Given the description of an element on the screen output the (x, y) to click on. 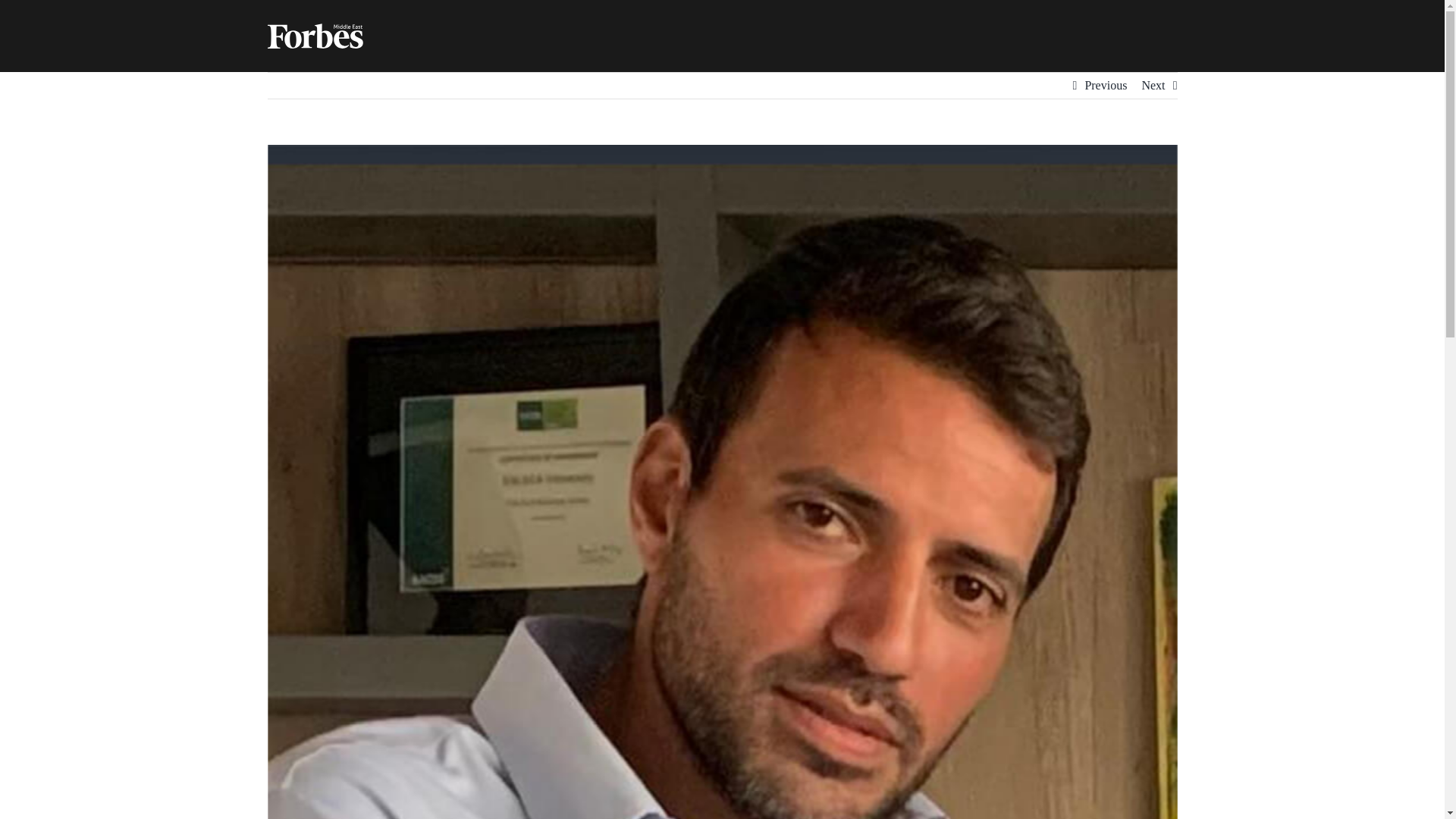
Previous (1105, 85)
Next (1152, 85)
